Given the description of an element on the screen output the (x, y) to click on. 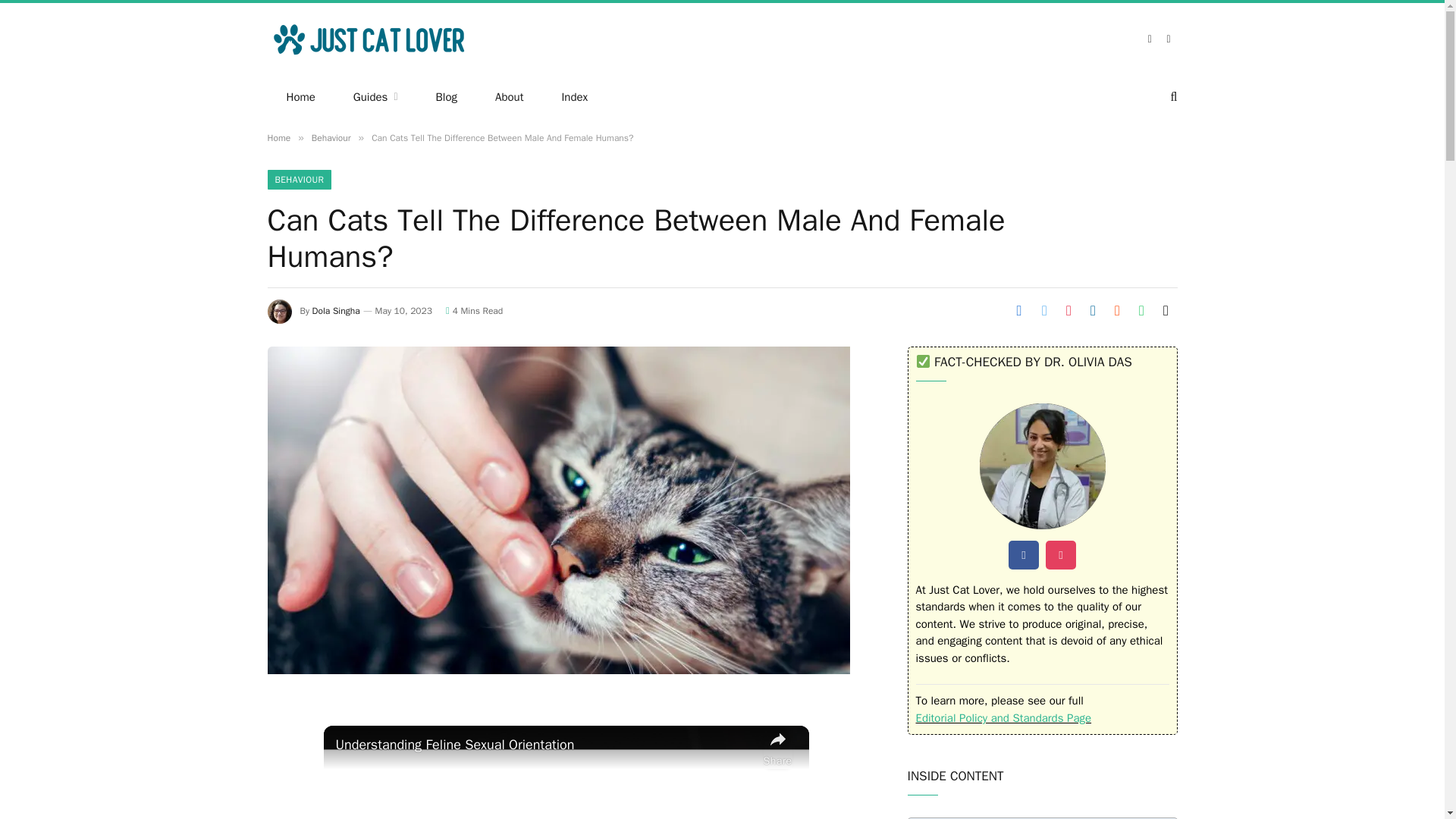
Share on Pinterest (1068, 310)
About (508, 96)
Just Cat Lover (369, 39)
Behaviour (330, 137)
Blog (446, 96)
Guides (375, 96)
Home (299, 96)
Posts by Dola Singha (336, 310)
Index (574, 96)
Dola Singha (336, 310)
Share on Facebook (1019, 310)
Share on LinkedIn (1092, 310)
Home (277, 137)
BEHAVIOUR (298, 179)
